Given the description of an element on the screen output the (x, y) to click on. 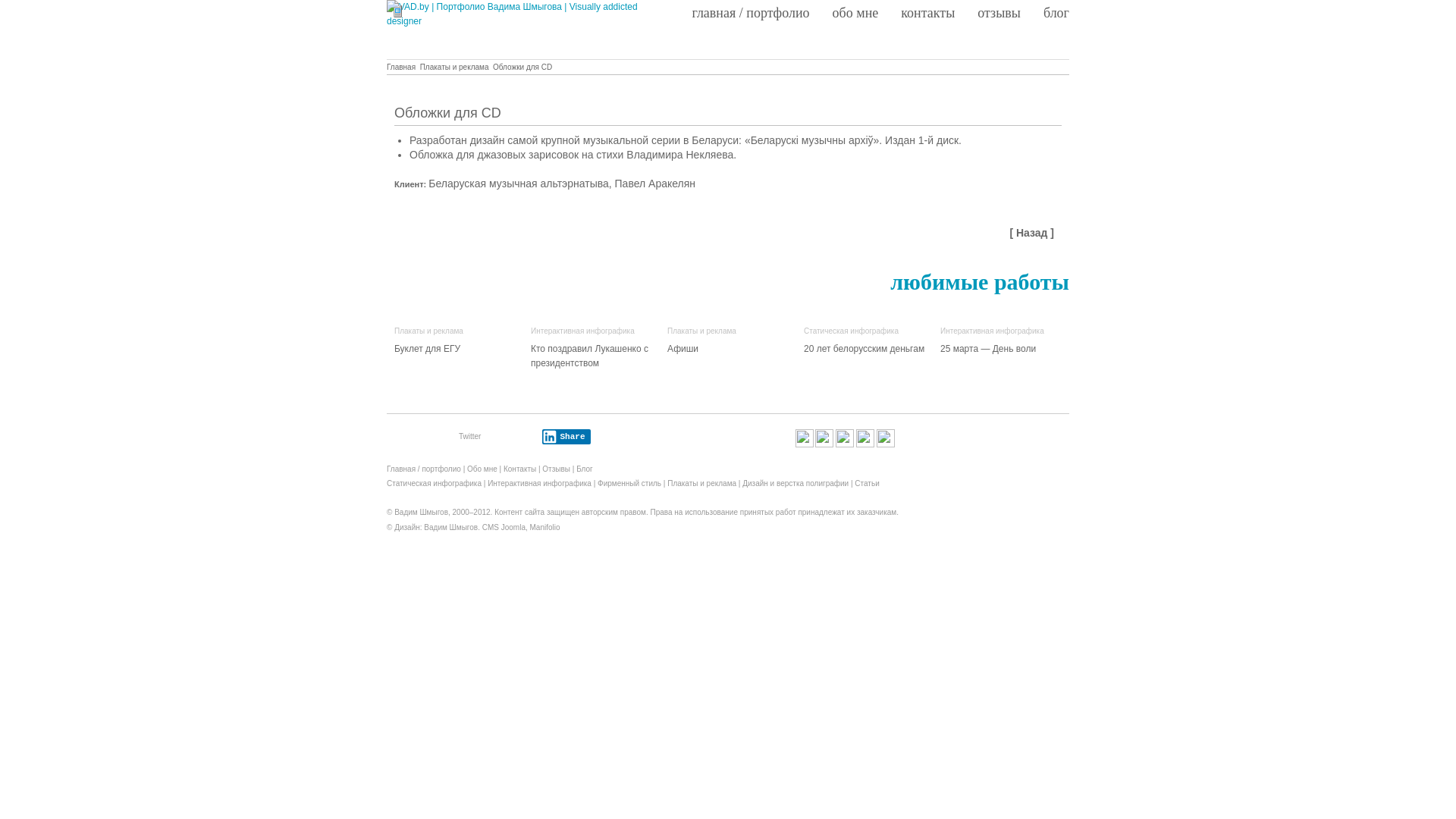
Share Element type: text (566, 436)
Twitter Element type: text (469, 436)
